Given the description of an element on the screen output the (x, y) to click on. 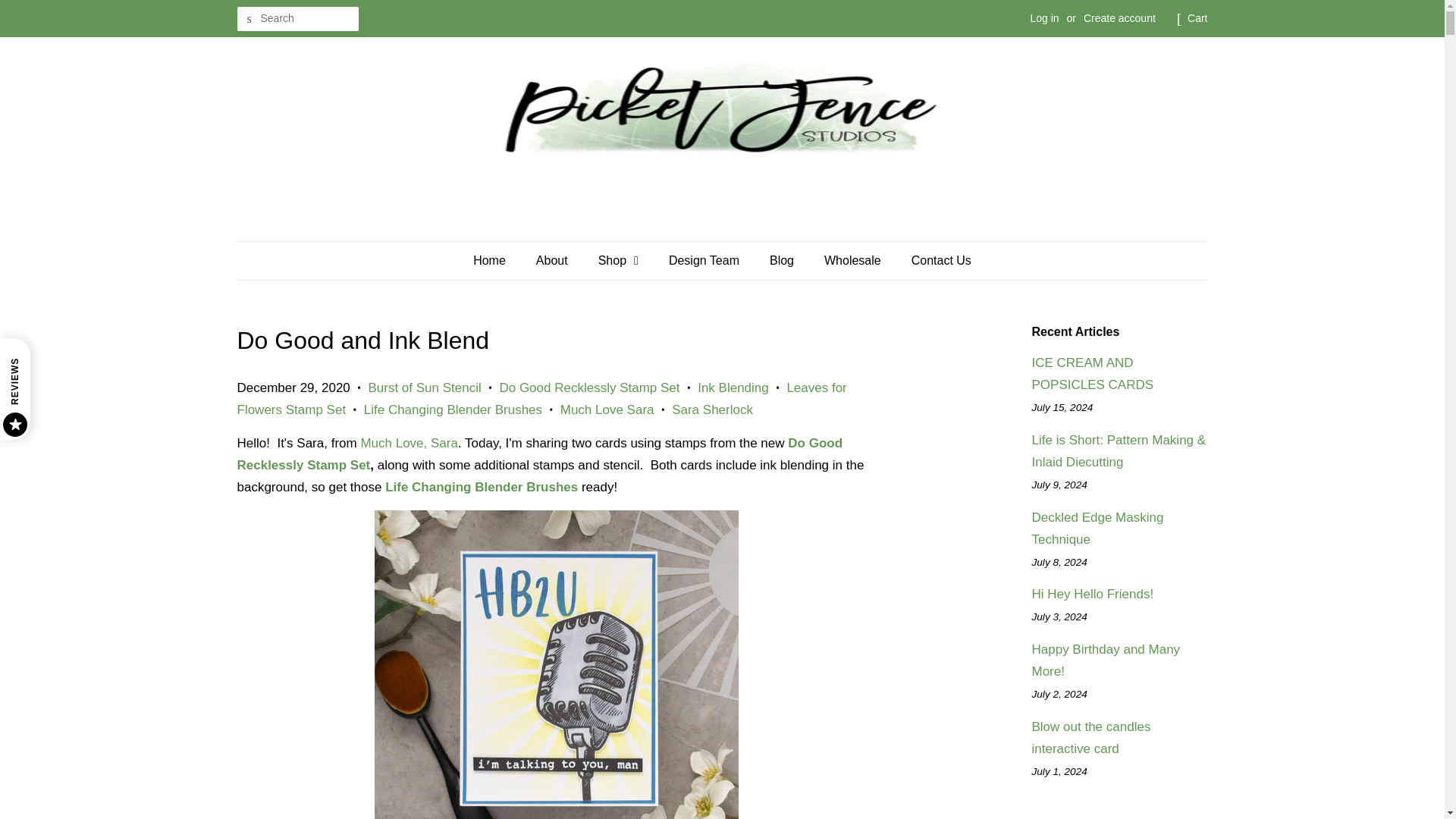
Search (247, 18)
Create account (1119, 18)
Cart (1197, 18)
Log in (1043, 18)
